Given the description of an element on the screen output the (x, y) to click on. 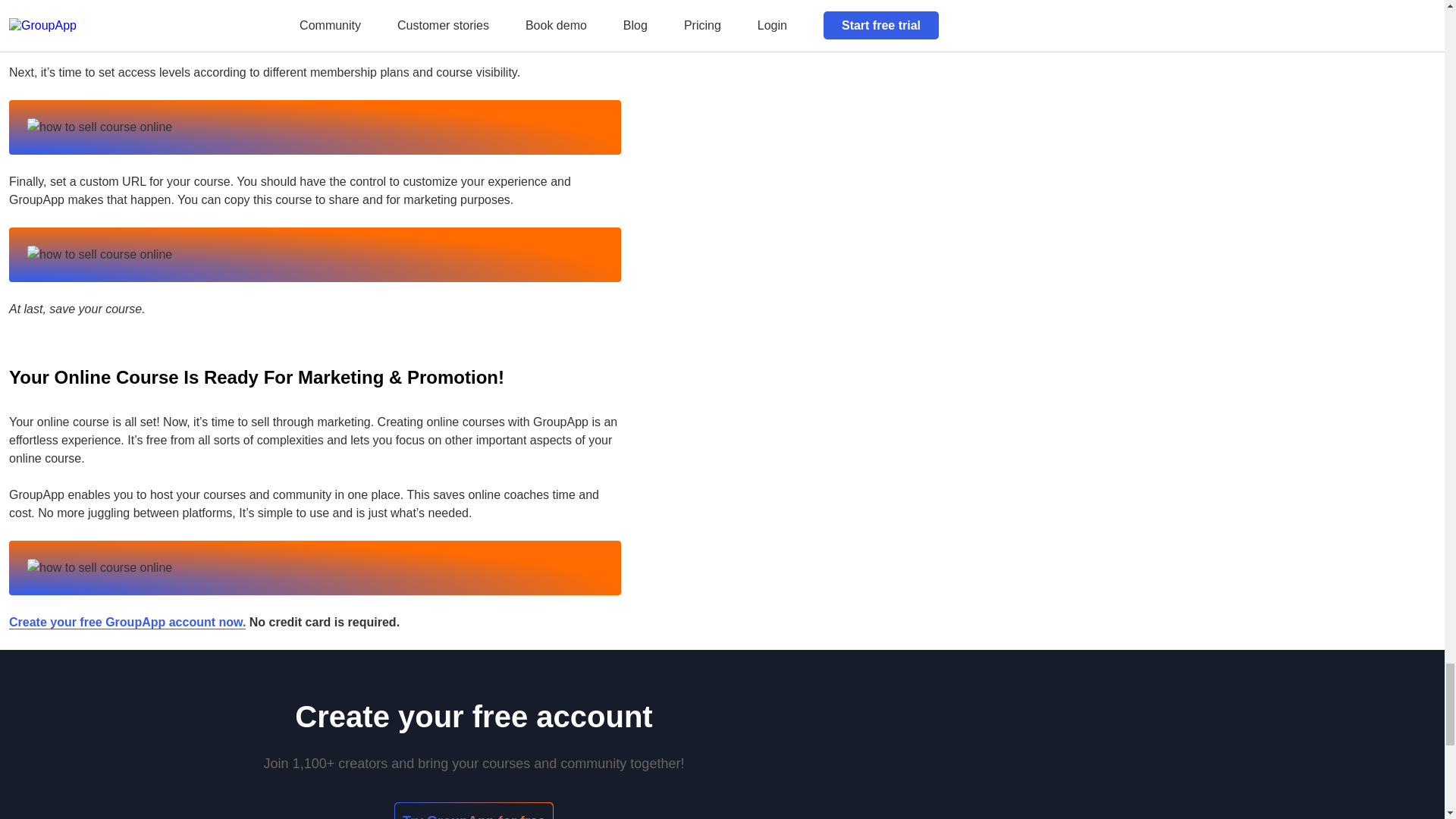
Create your free GroupApp account now. (127, 622)
Try GroupApp for free (473, 811)
